Given the description of an element on the screen output the (x, y) to click on. 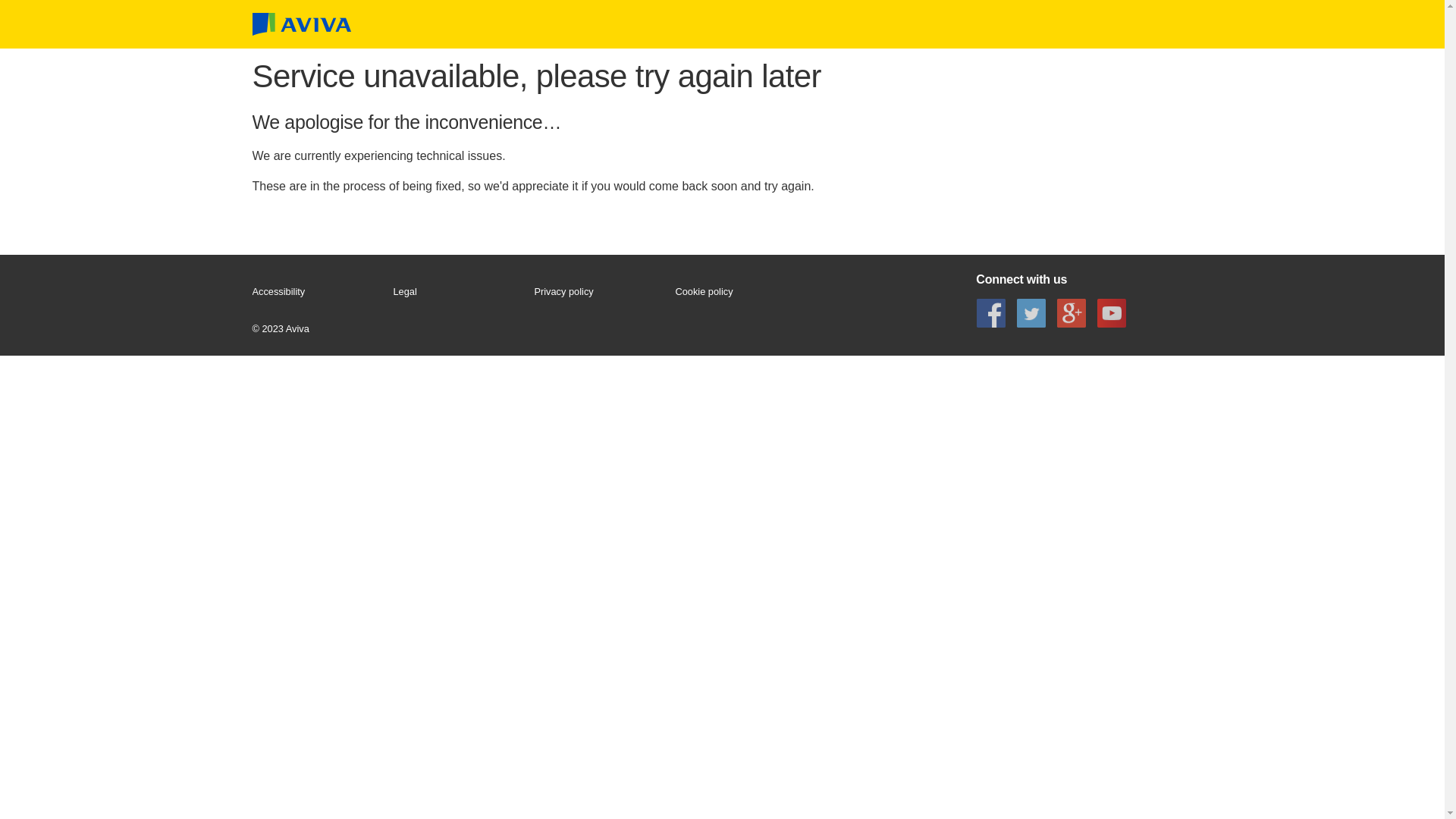
Facebook Element type: text (989, 312)
Google+ Element type: text (1071, 312)
YouTube Element type: text (1111, 312)
Legal Element type: text (455, 291)
Accessibility Element type: text (314, 291)
Twitter Element type: text (1030, 312)
Cookie policy Element type: text (737, 291)
Privacy policy Element type: text (596, 291)
Aviva Element type: text (300, 23)
